Given the description of an element on the screen output the (x, y) to click on. 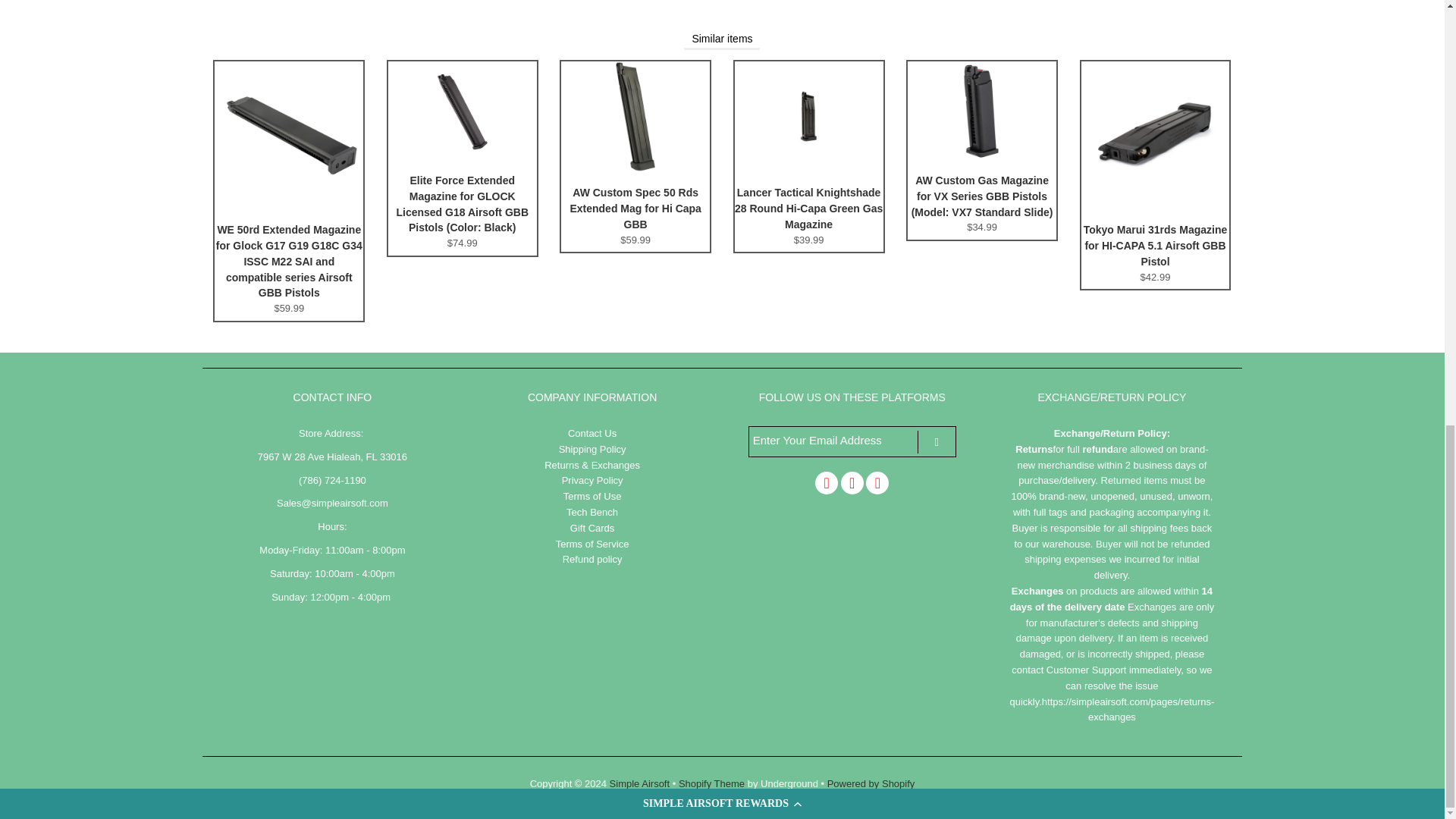
AW Custom Spec 50 Rds Extended Mag for Hi Capa GBB (635, 168)
